Given the description of an element on the screen output the (x, y) to click on. 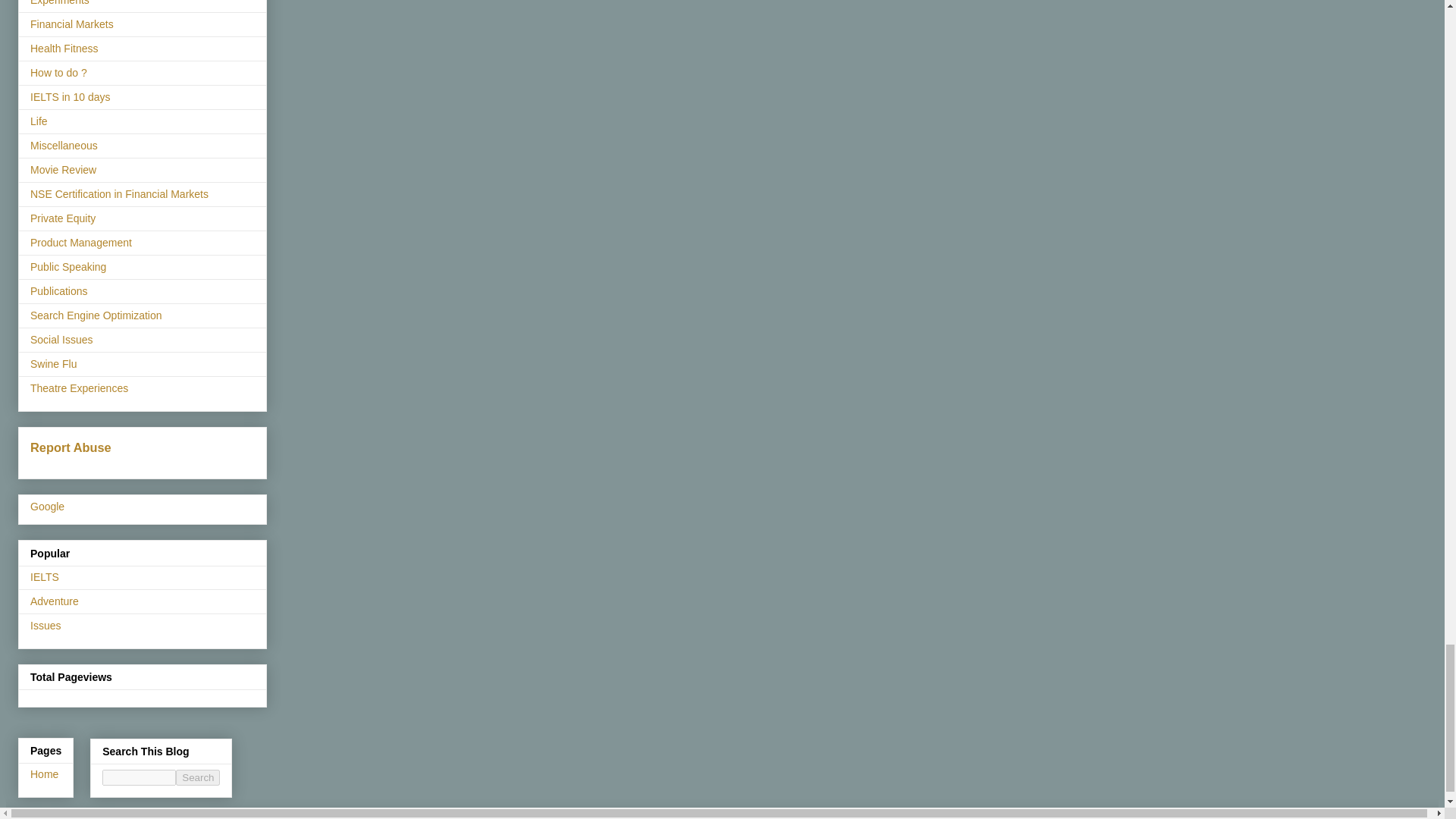
search (197, 777)
Search (197, 777)
search (138, 777)
Search (197, 777)
